Given the description of an element on the screen output the (x, y) to click on. 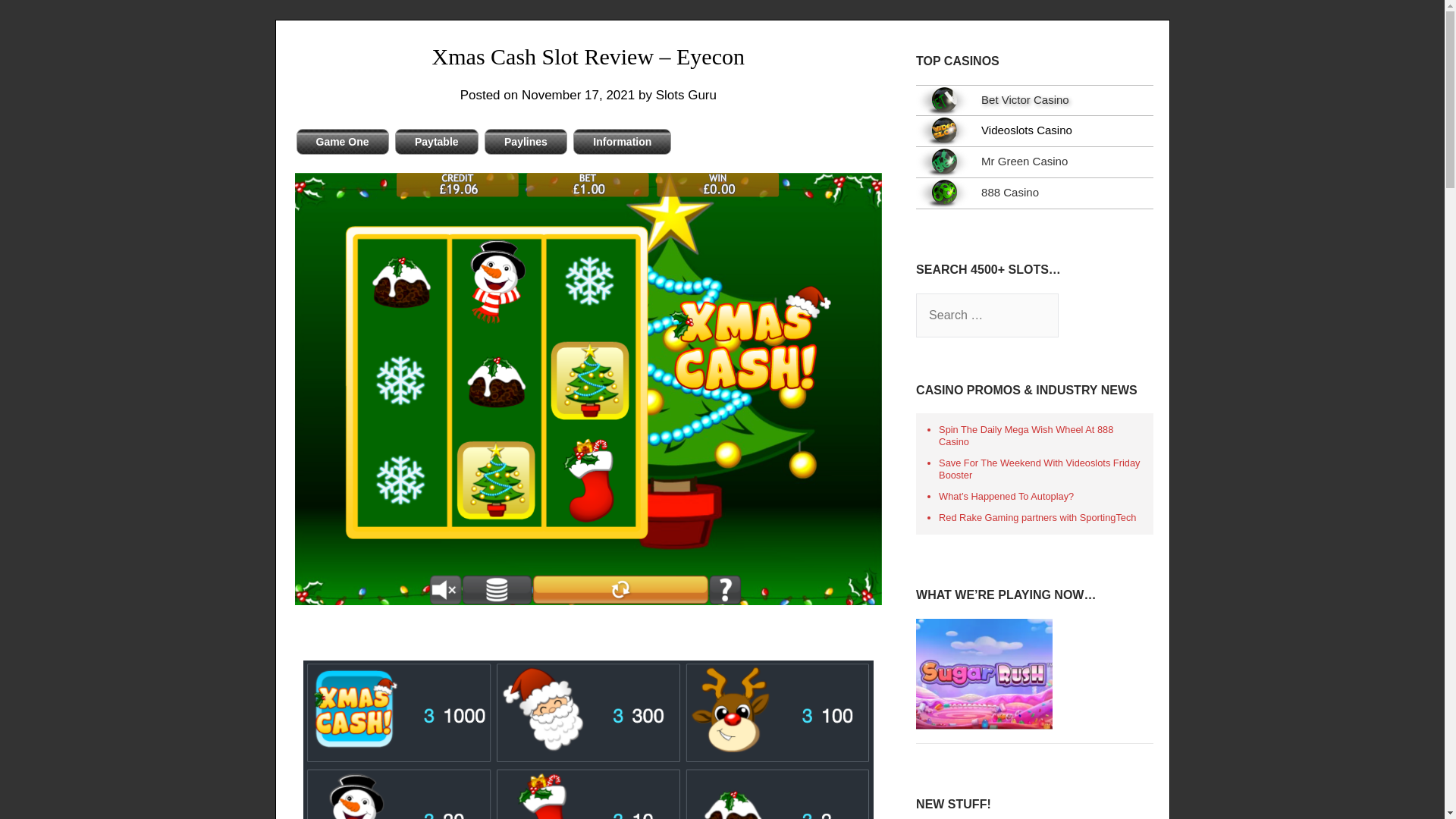
Game One (341, 141)
November 17, 2021 (577, 94)
sugar rush slider (983, 674)
Paylines (525, 141)
Information (622, 141)
Paytable (436, 141)
Slots Guru (686, 94)
